Given the description of an element on the screen output the (x, y) to click on. 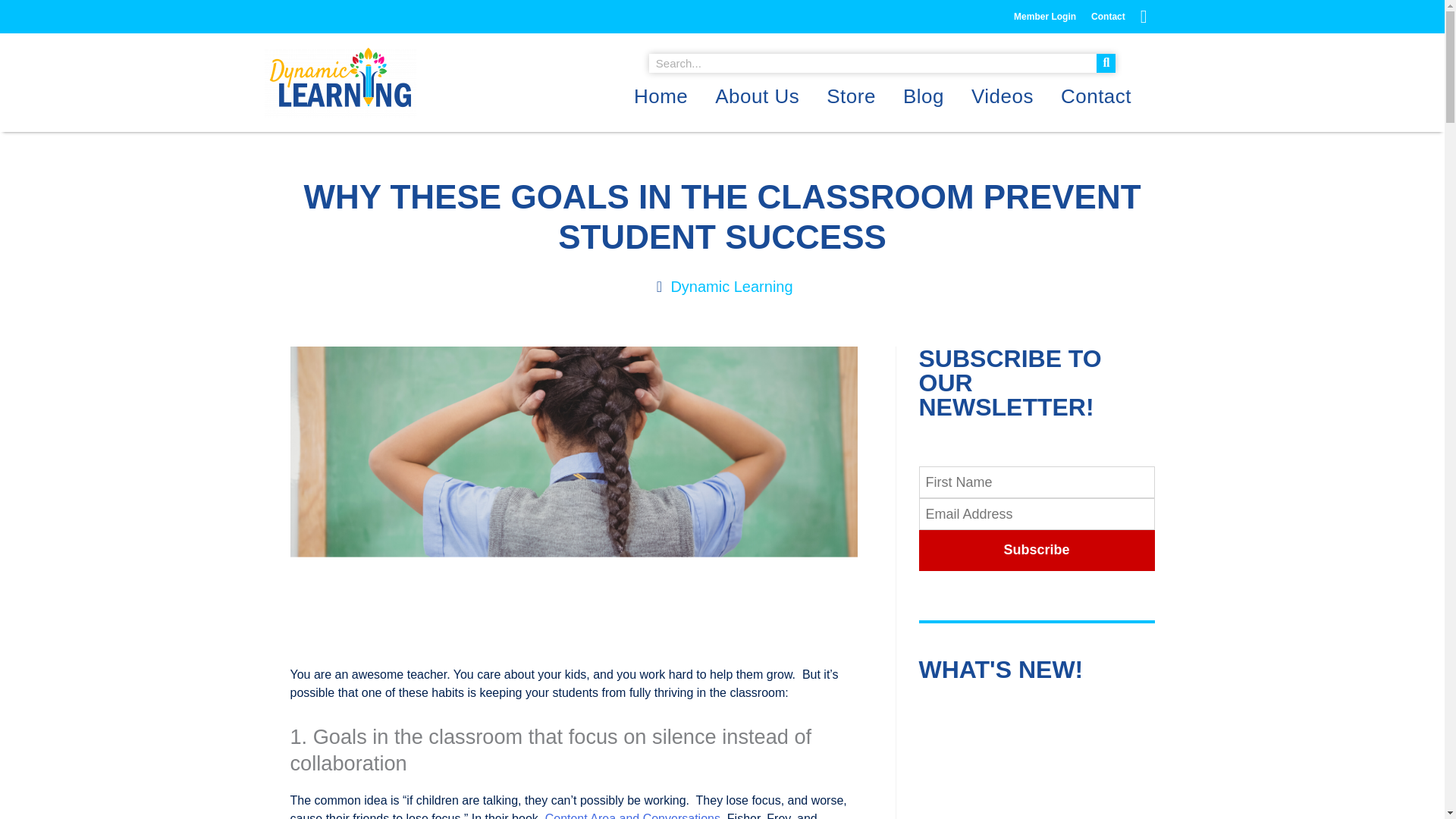
Search (1105, 63)
Contact (1095, 95)
Videos (1002, 95)
About Us (756, 95)
Contact (1107, 16)
Blog (923, 95)
Store (850, 95)
Member Login (1044, 16)
Home (660, 95)
